Given the description of an element on the screen output the (x, y) to click on. 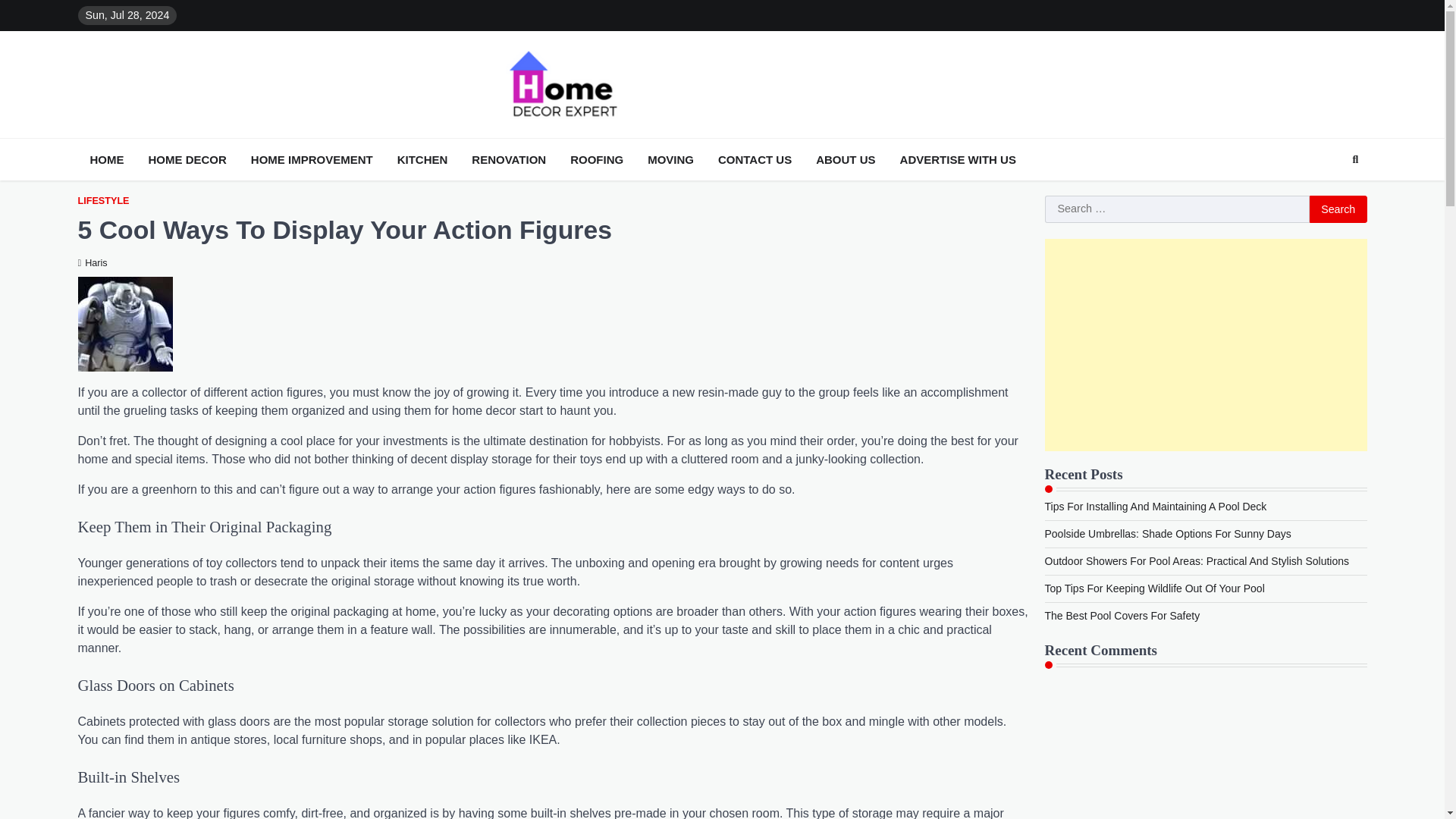
Poolside Umbrellas: Shade Options For Sunny Days (1168, 533)
CONTACT US (754, 159)
Haris (91, 262)
The Best Pool Covers For Safety (1122, 615)
HOME IMPROVEMENT (311, 159)
KITCHEN (422, 159)
ADVERTISE WITH US (957, 159)
Top Tips For Keeping Wildlife Out Of Your Pool (1155, 588)
HOME (105, 159)
Search (1327, 195)
Search (1337, 208)
Search (1337, 208)
ABOUT US (844, 159)
Tips For Installing And Maintaining A Pool Deck (1155, 506)
ROOFING (596, 159)
